Given the description of an element on the screen output the (x, y) to click on. 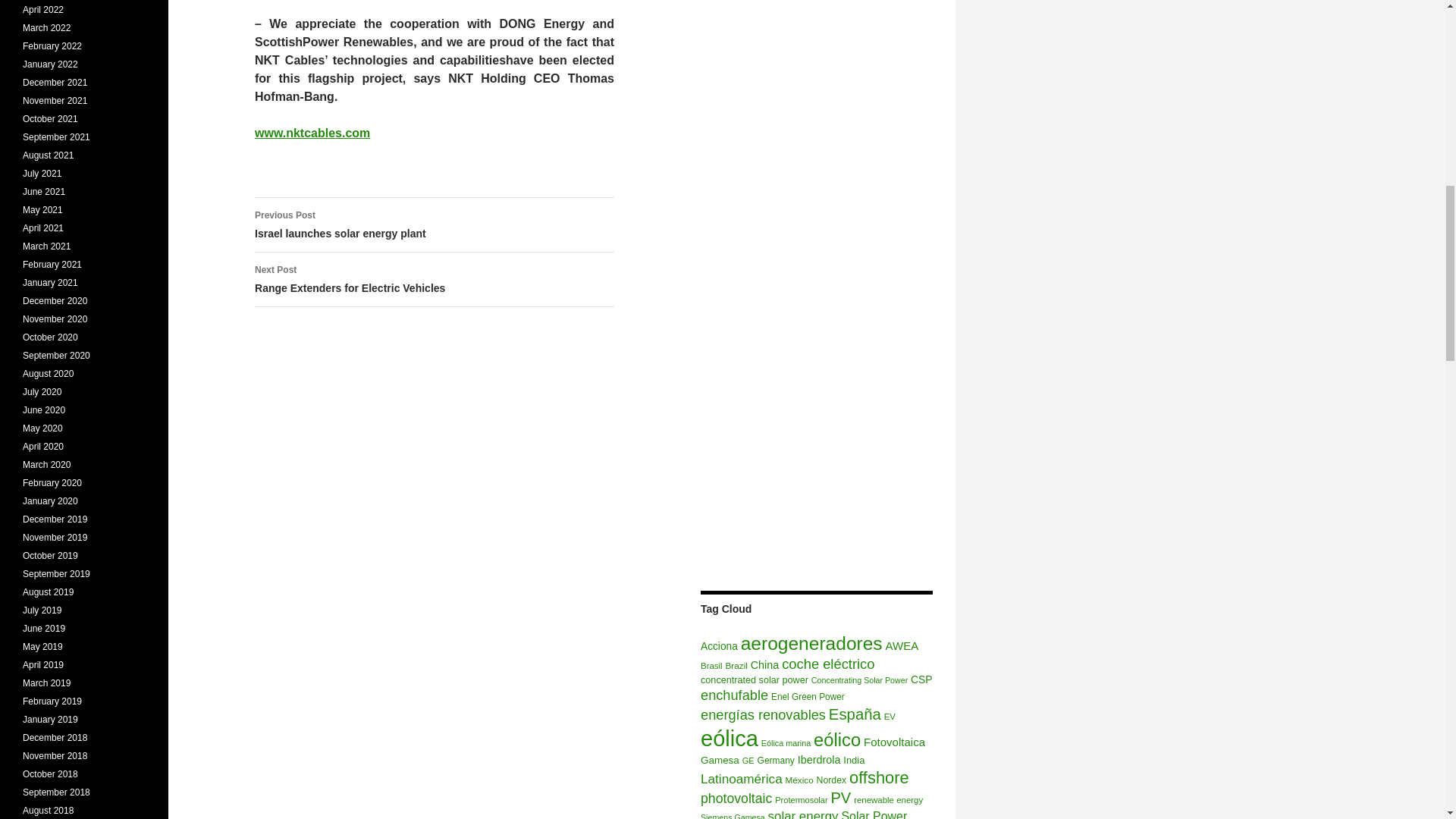
AWEA (901, 645)
Brazil (736, 665)
concentrated solar power (434, 225)
Acciona (754, 679)
CSP (719, 645)
China (434, 279)
www.nktcables.com (921, 679)
Concentrating Solar Power (764, 664)
